Given the description of an element on the screen output the (x, y) to click on. 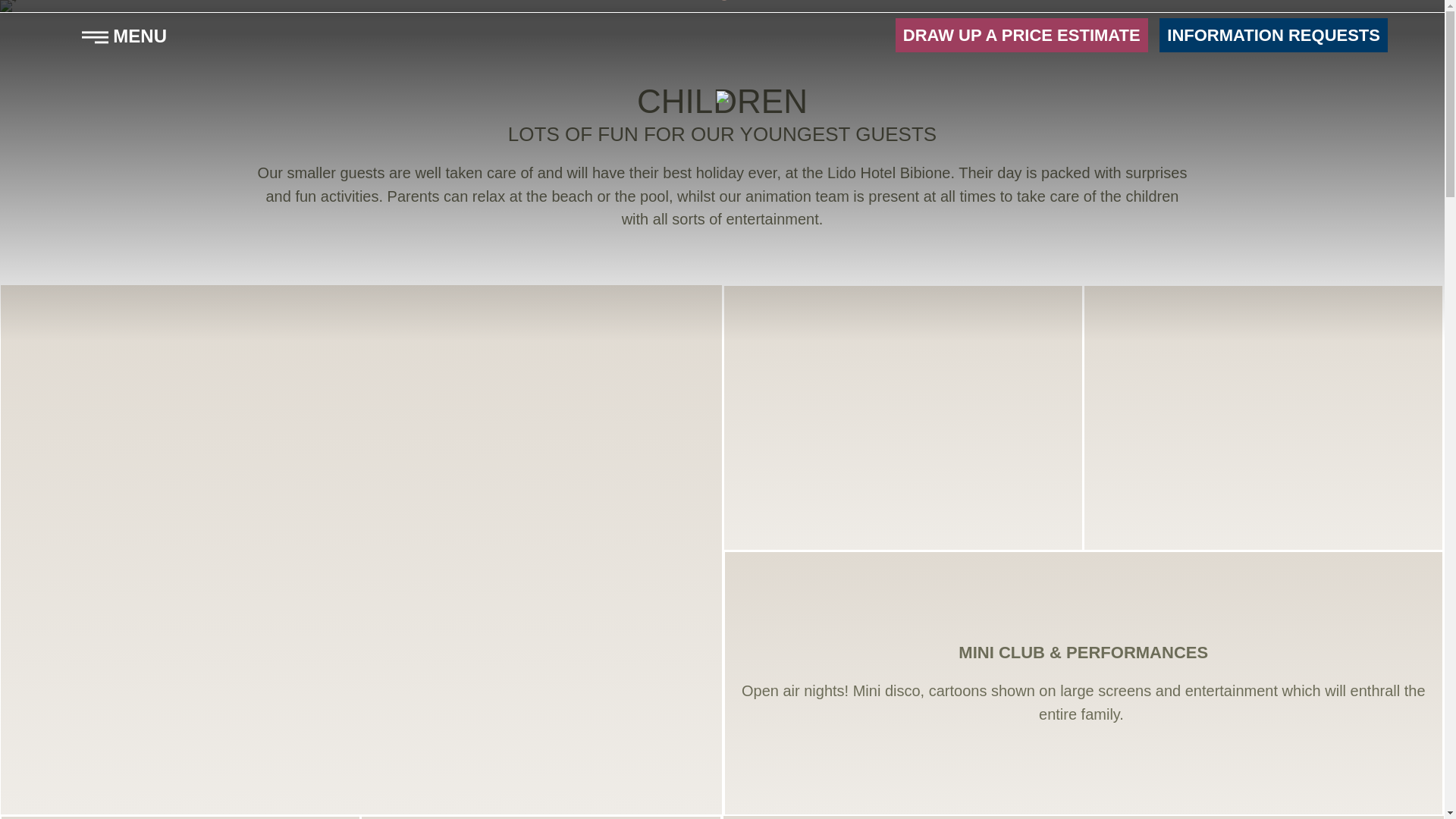
DRAW UP A PRICE ESTIMATE (1021, 35)
INFORMATION REQUESTS (1273, 35)
